Given the description of an element on the screen output the (x, y) to click on. 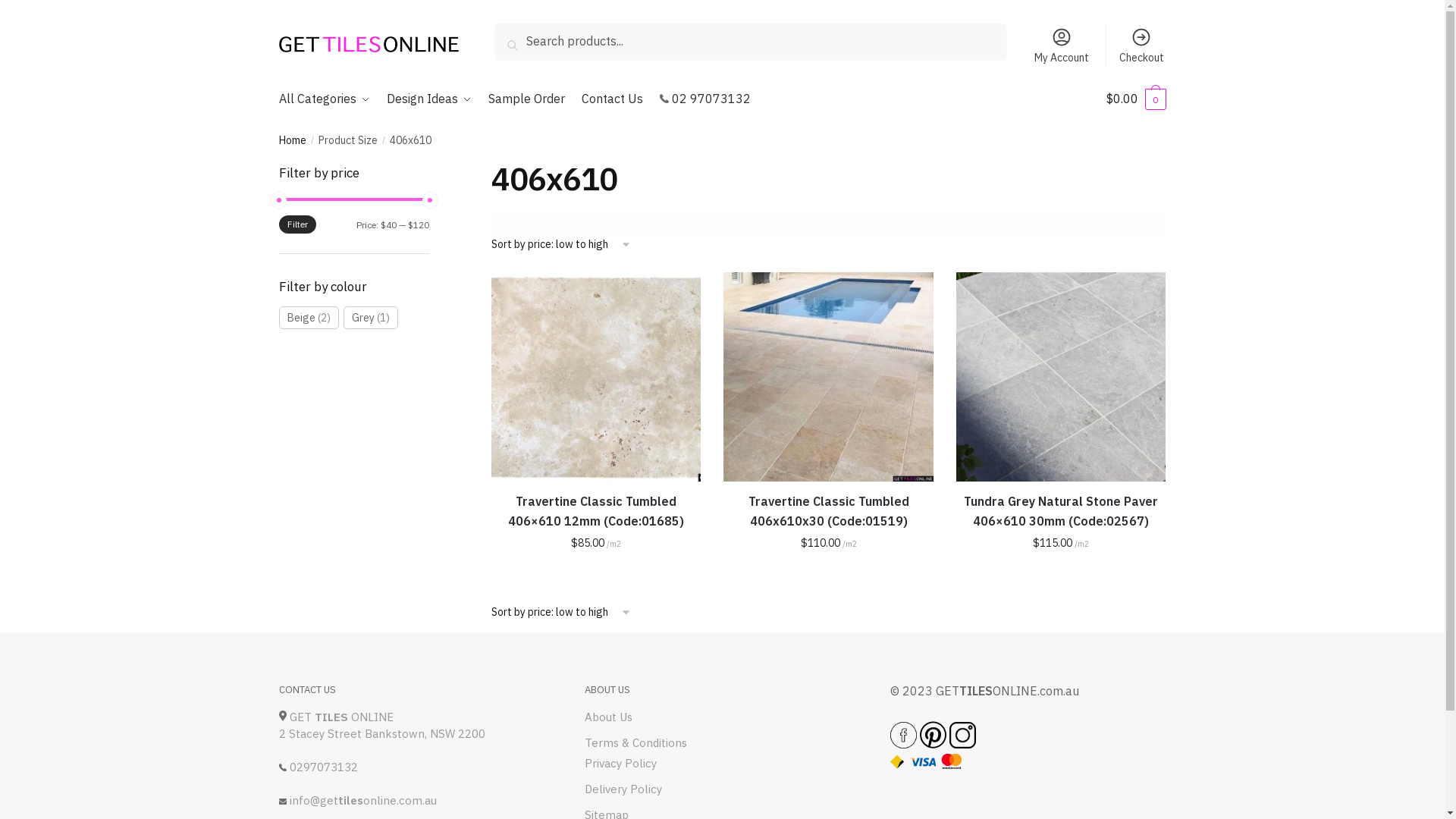
02 97073132 Element type: text (704, 98)
info@gettilesonline.com.au Element type: text (362, 800)
Filter Element type: text (297, 223)
Contact Us Element type: text (611, 98)
All Categories Element type: text (327, 98)
0297073132 Element type: text (323, 766)
Terms & Conditions Element type: text (635, 743)
About Us Element type: text (608, 717)
$0.00 0 Element type: text (1135, 98)
Sample Order Element type: text (526, 98)
Travertine Classic Tumbled 406x610x30 (Code:01519) Element type: text (827, 511)
Privacy Policy Element type: text (620, 763)
Home Element type: text (292, 140)
GET TILES ONLINE
2 Stacey Street Bankstown, NSW 2200 Element type: text (382, 725)
Delivery Policy Element type: text (623, 789)
Checkout Element type: text (1141, 44)
Beige (2) Element type: text (308, 317)
Search Element type: text (518, 33)
Grey (1) Element type: text (369, 317)
Design Ideas Element type: text (428, 98)
My Account Element type: text (1061, 44)
